Given the description of an element on the screen output the (x, y) to click on. 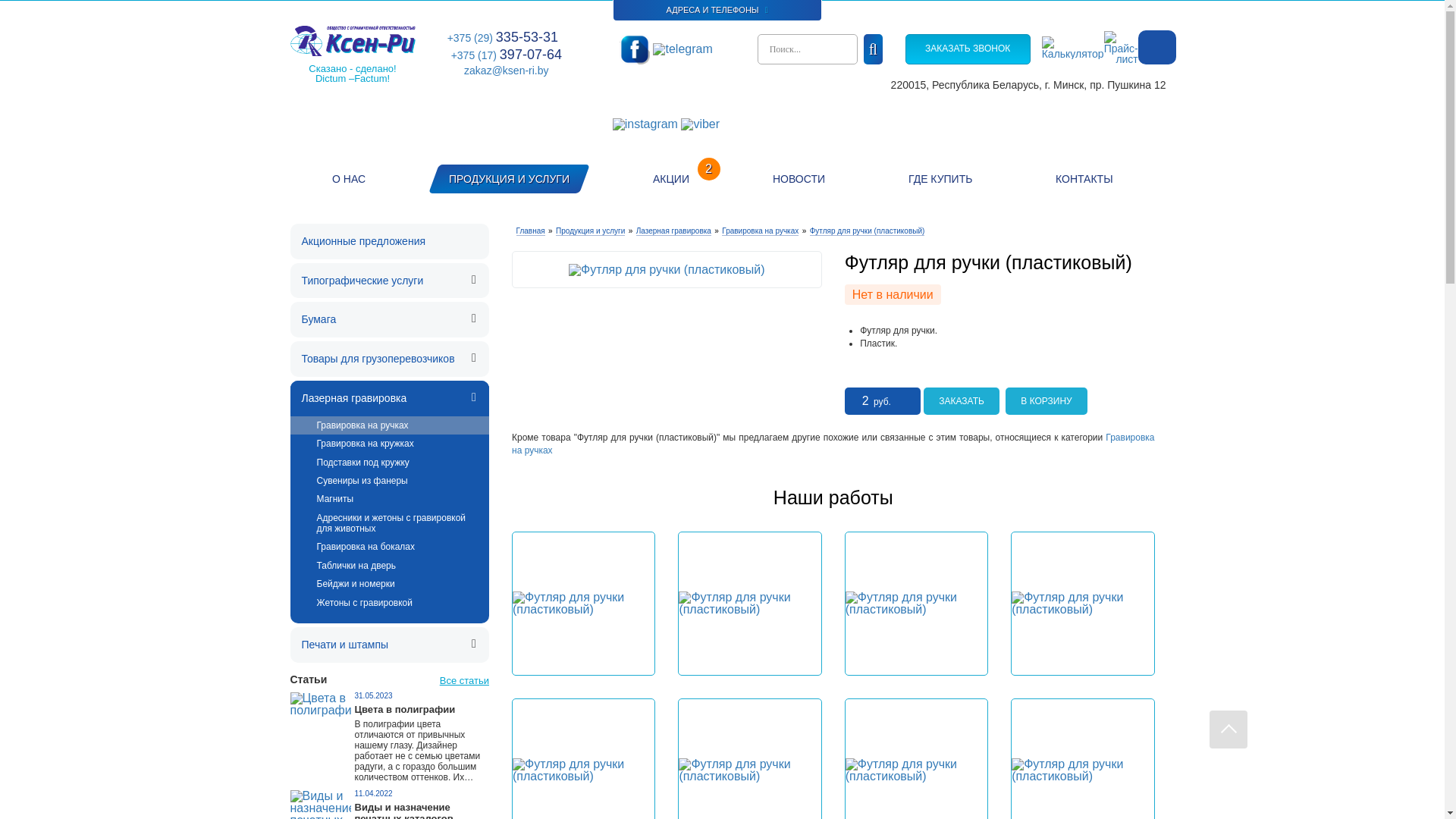
+375 (17) 397-07-64 Element type: text (506, 54)
+375 (29) 335-53-31 Element type: text (502, 36)
zakaz@ksen-ri.by Element type: text (506, 70)
